Given the description of an element on the screen output the (x, y) to click on. 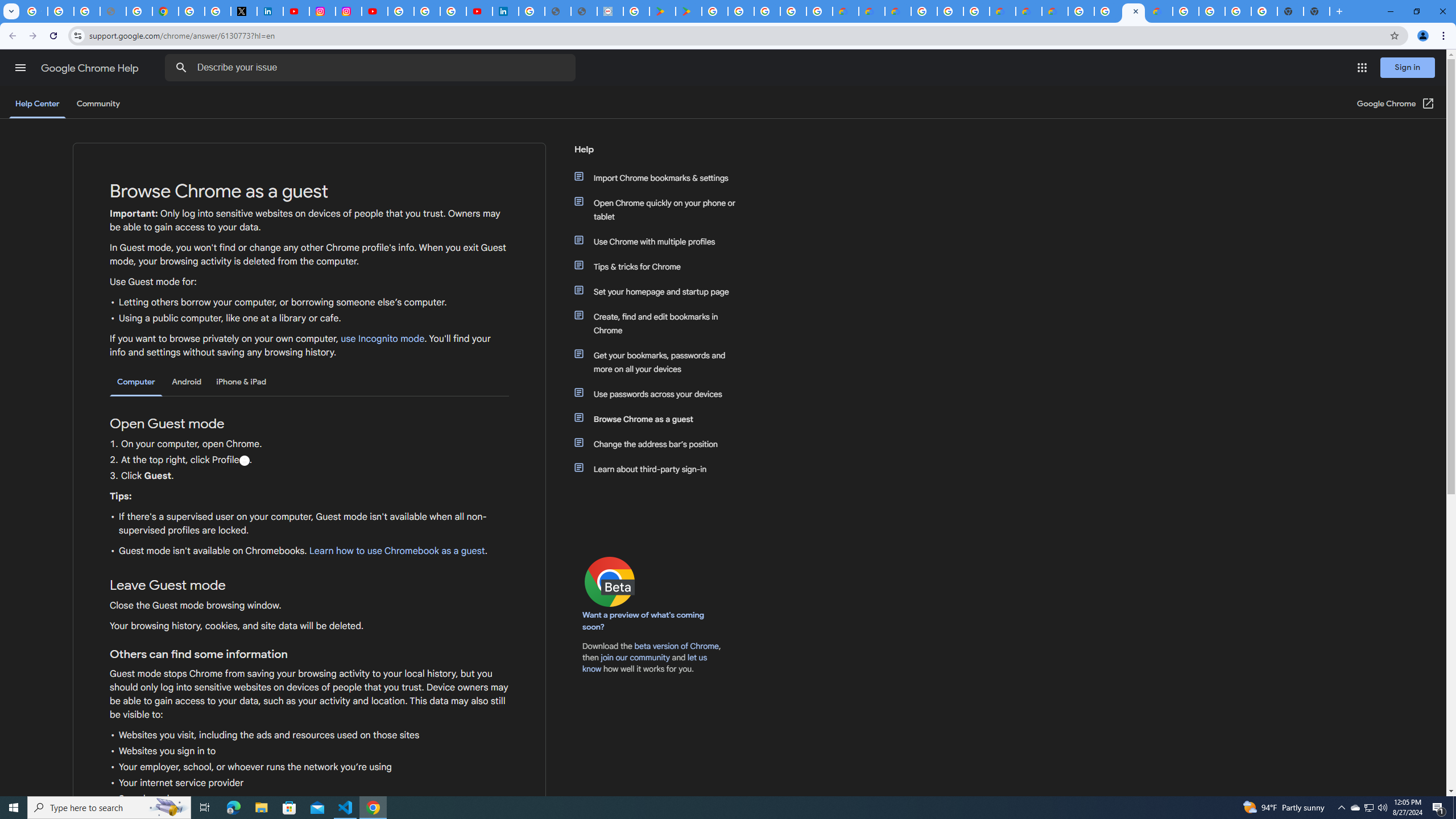
Google Chrome Help (90, 68)
Import Chrome bookmarks & settings (661, 177)
google_privacy_policy_en.pdf (558, 11)
Customer Care | Google Cloud (1002, 11)
Open Chrome quickly on your phone or tablet (661, 209)
Google Cloud Platform (949, 11)
X (243, 11)
Community (97, 103)
Sign in - Google Accounts (191, 11)
